Given the description of an element on the screen output the (x, y) to click on. 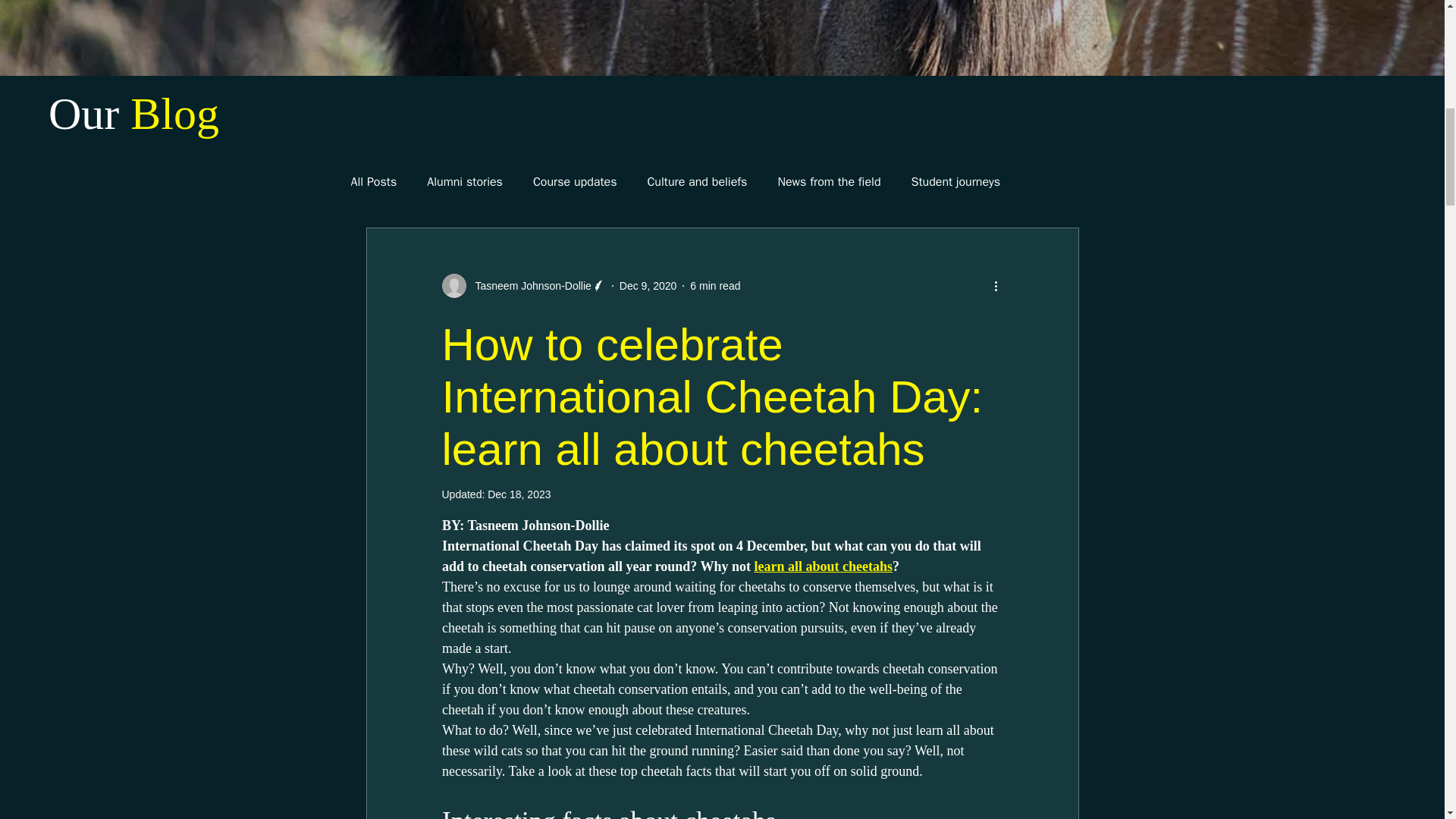
Dec 9, 2020 (648, 285)
Tasneem Johnson-Dollie (528, 285)
6 min read (714, 285)
Dec 18, 2023 (518, 494)
